Given the description of an element on the screen output the (x, y) to click on. 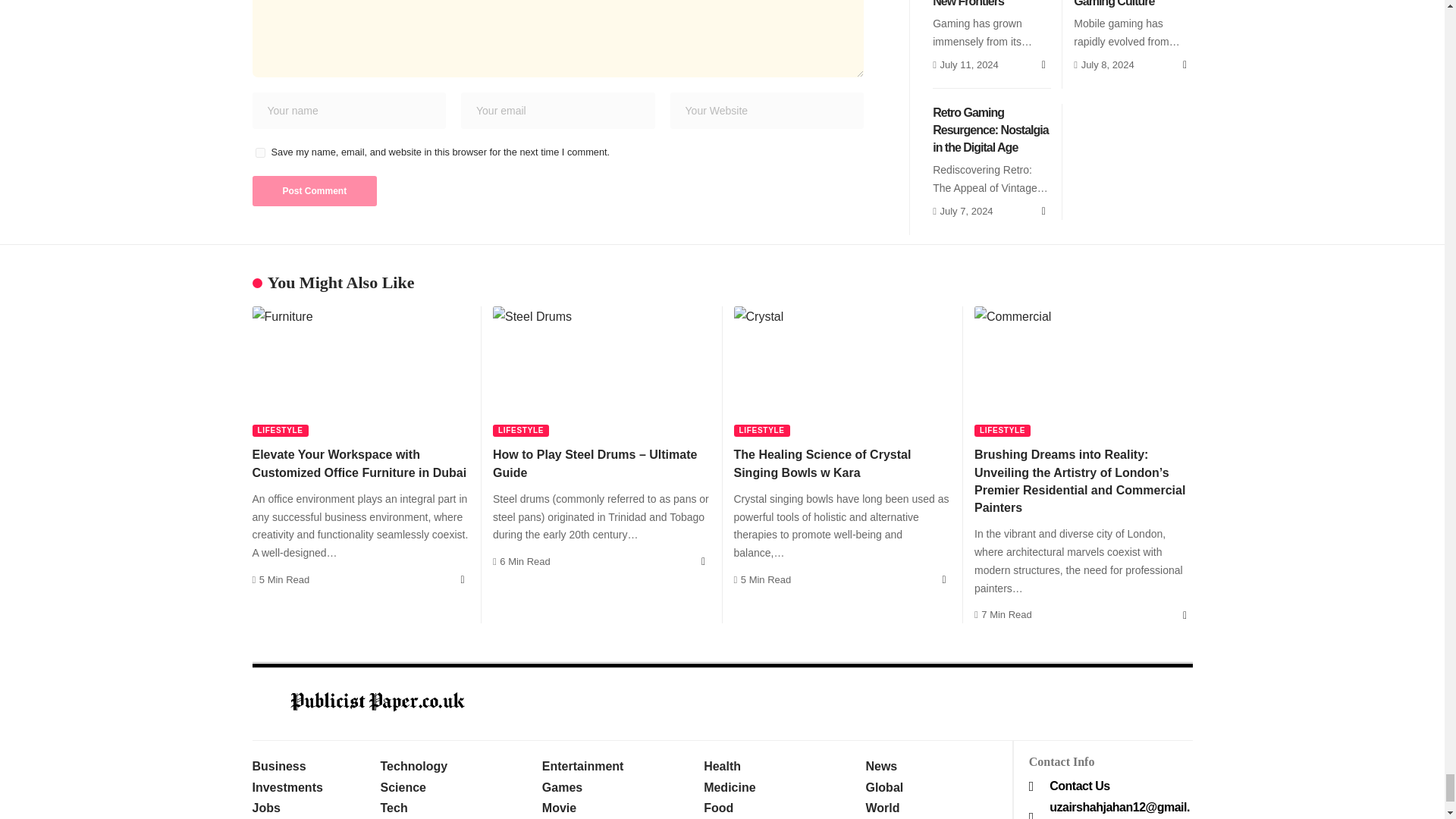
yes (259, 153)
Post Comment (314, 191)
